Given the description of an element on the screen output the (x, y) to click on. 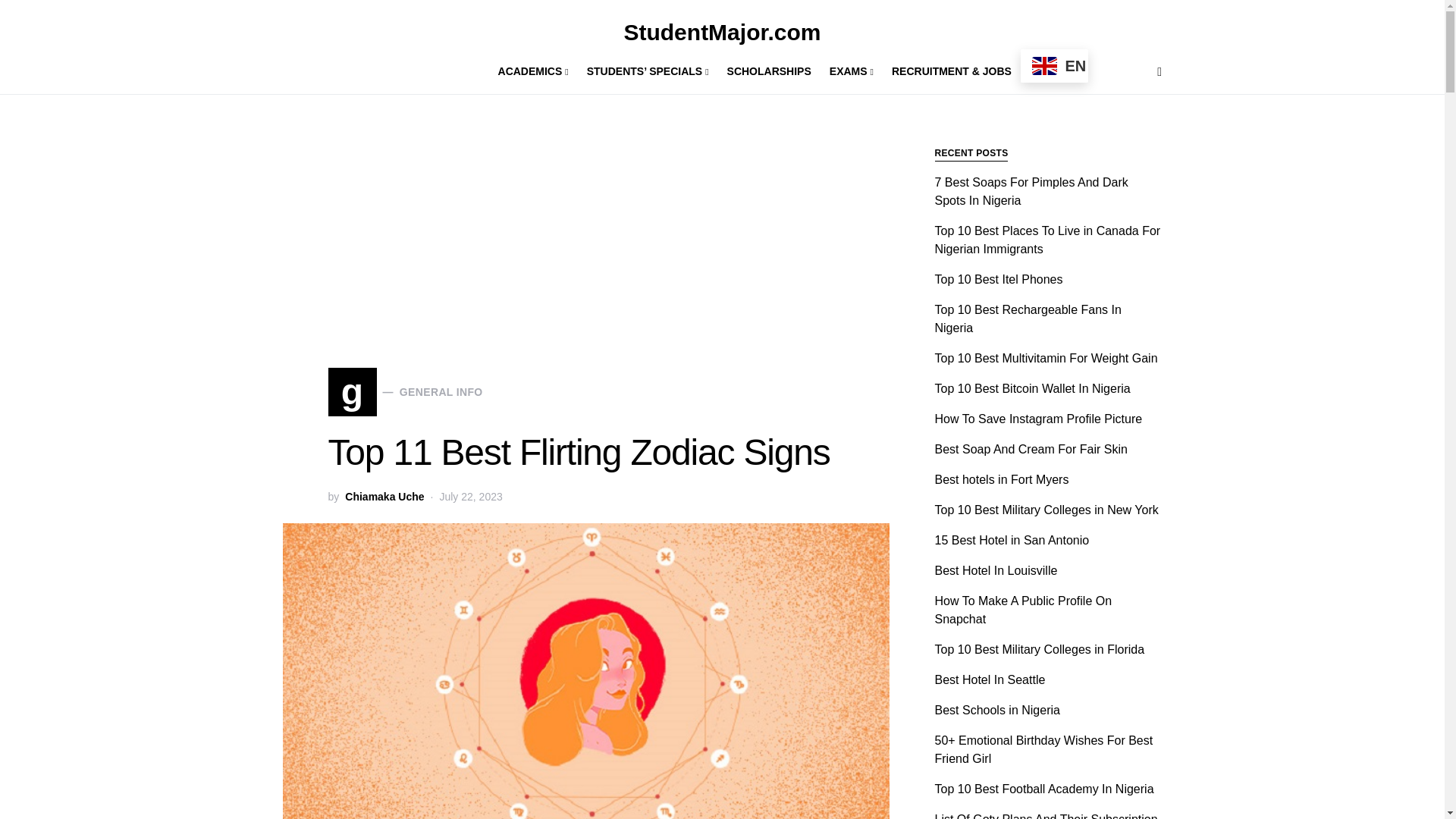
StudentMajor.com (722, 32)
ACADEMICS (537, 71)
View all posts by Chiamaka Uche (384, 496)
SCHOLARSHIPS (769, 71)
EXAMS (851, 71)
